Given the description of an element on the screen output the (x, y) to click on. 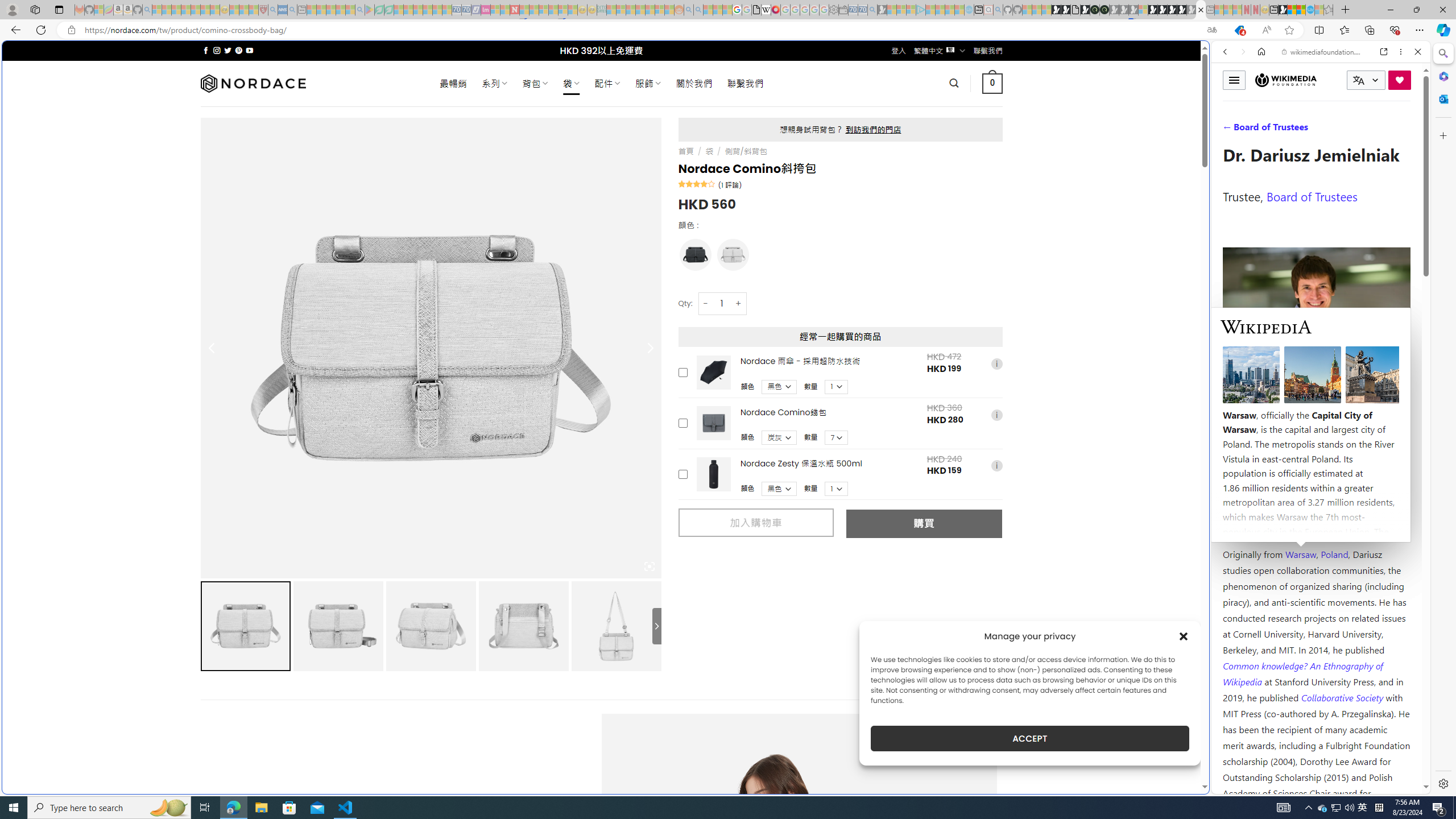
Profile on Meta-Wiki (1273, 405)
